Given the description of an element on the screen output the (x, y) to click on. 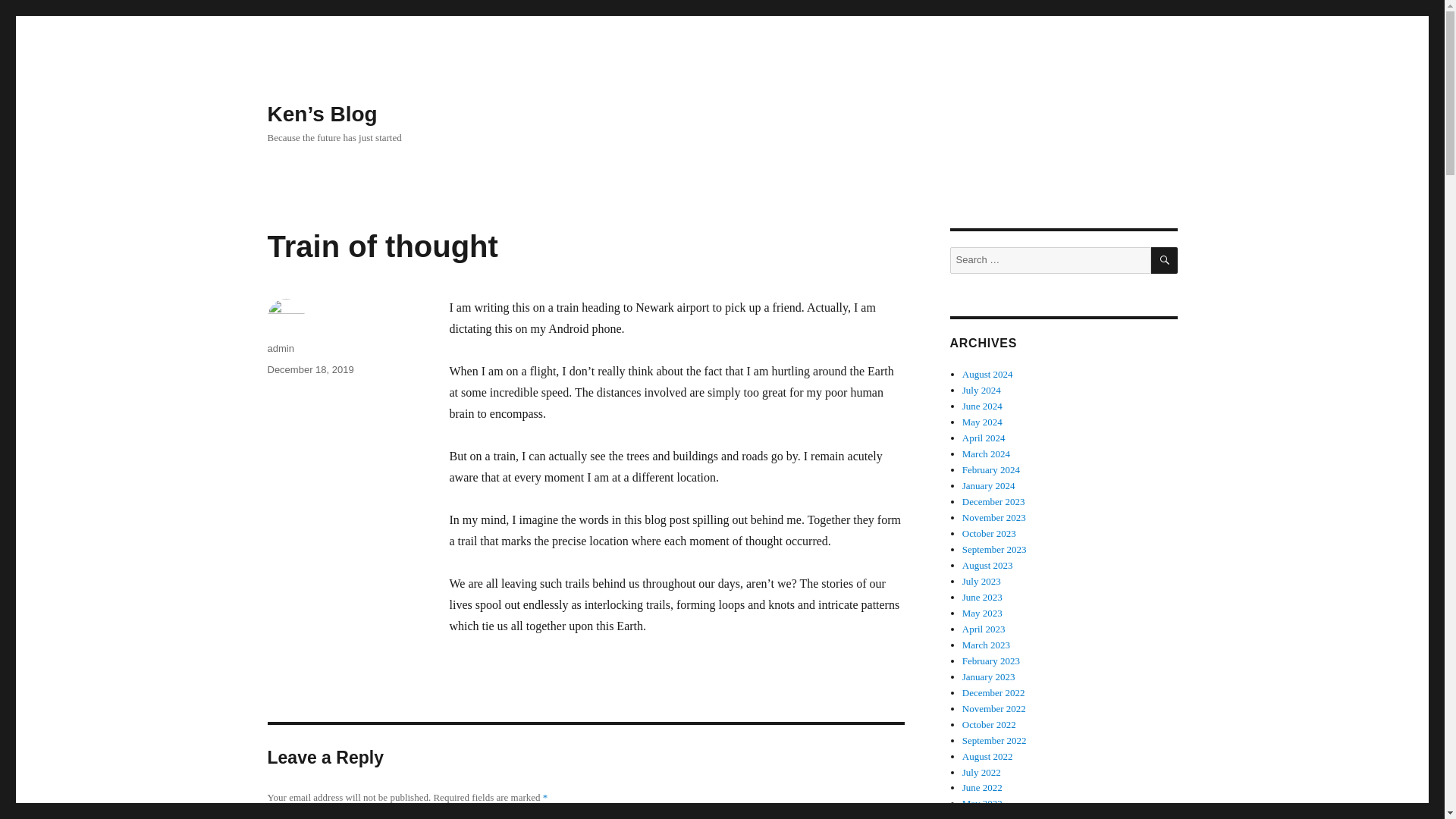
January 2024 (988, 485)
September 2022 (994, 740)
July 2023 (981, 581)
August 2022 (987, 756)
July 2022 (981, 771)
December 2023 (993, 501)
April 2022 (984, 816)
May 2024 (982, 421)
June 2024 (982, 405)
August 2023 (987, 564)
